Given the description of an element on the screen output the (x, y) to click on. 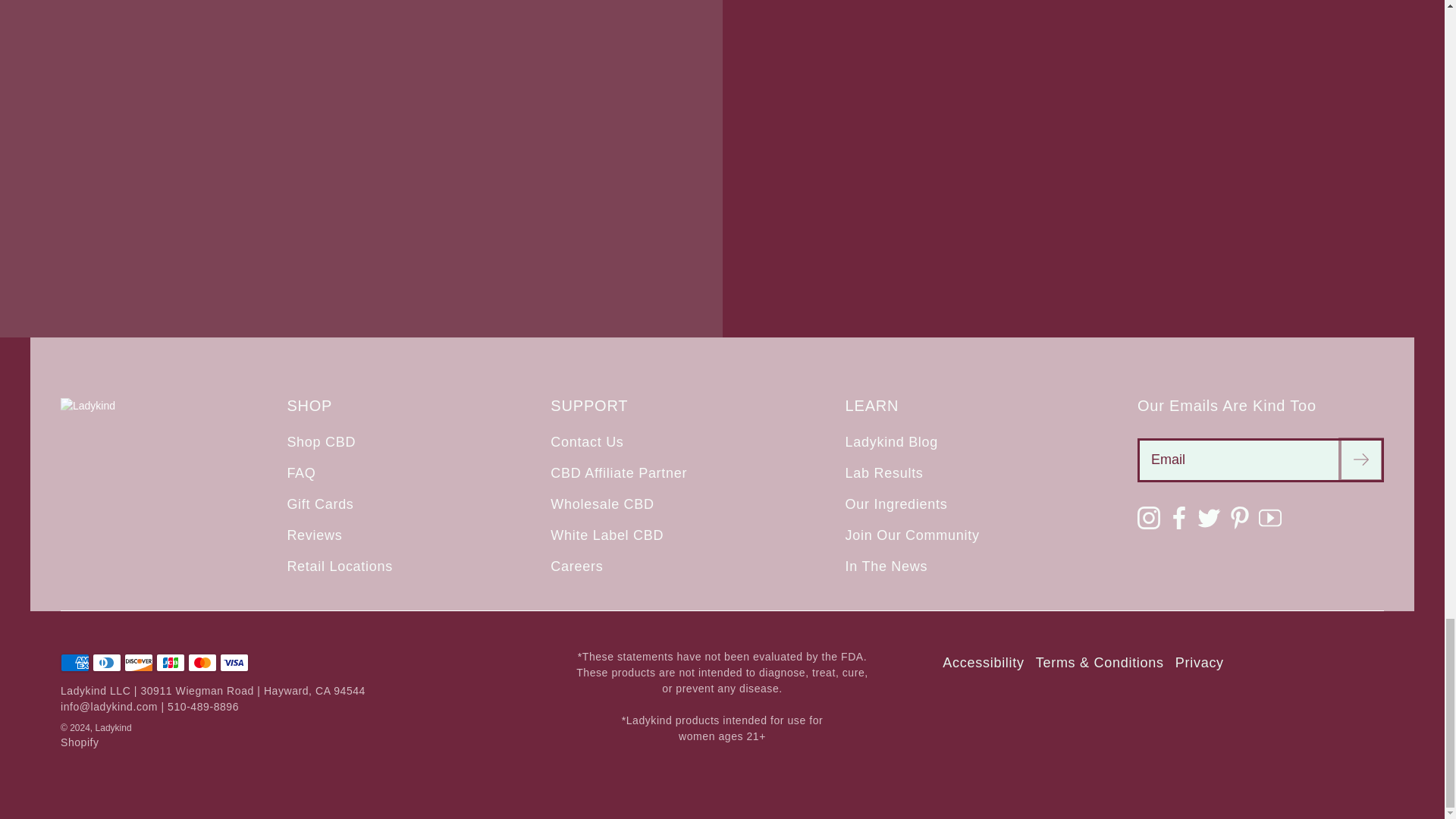
Mastercard (201, 662)
Visa (233, 662)
Discover (137, 662)
JCB (169, 662)
American Express (74, 662)
Diners Club (106, 662)
